Given the description of an element on the screen output the (x, y) to click on. 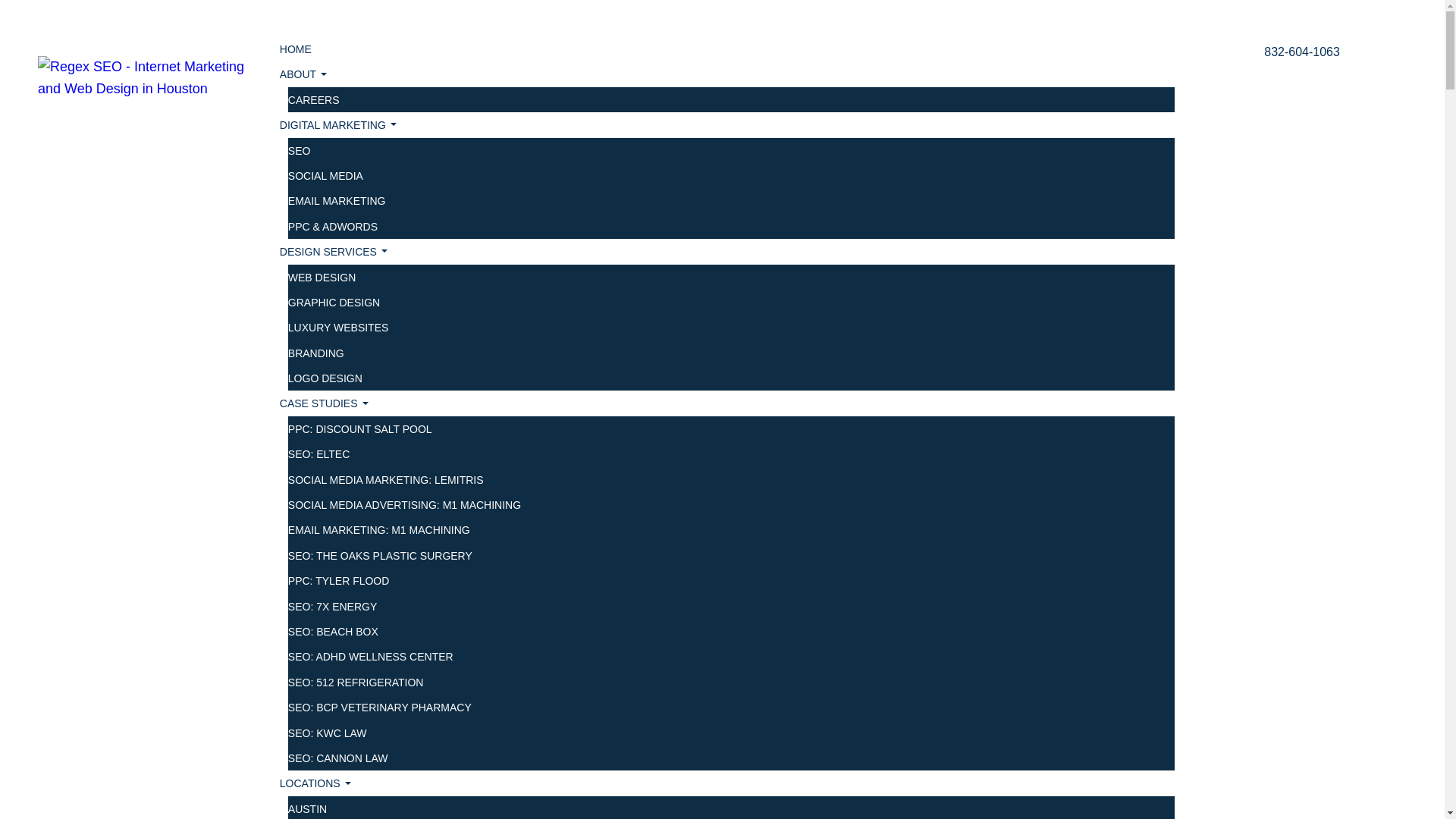
CAREERS (313, 100)
SEO: THE OAKS PLASTIC SURGERY (379, 555)
SEO: 7X ENERGY (332, 606)
ABOUT (302, 74)
GRAPHIC DESIGN (334, 302)
SEO: BCP VETERINARY PHARMACY (379, 707)
DIGITAL MARKETING (337, 125)
LOGO DESIGN (325, 378)
SOCIAL MEDIA (325, 175)
SEO (299, 150)
